Given the description of an element on the screen output the (x, y) to click on. 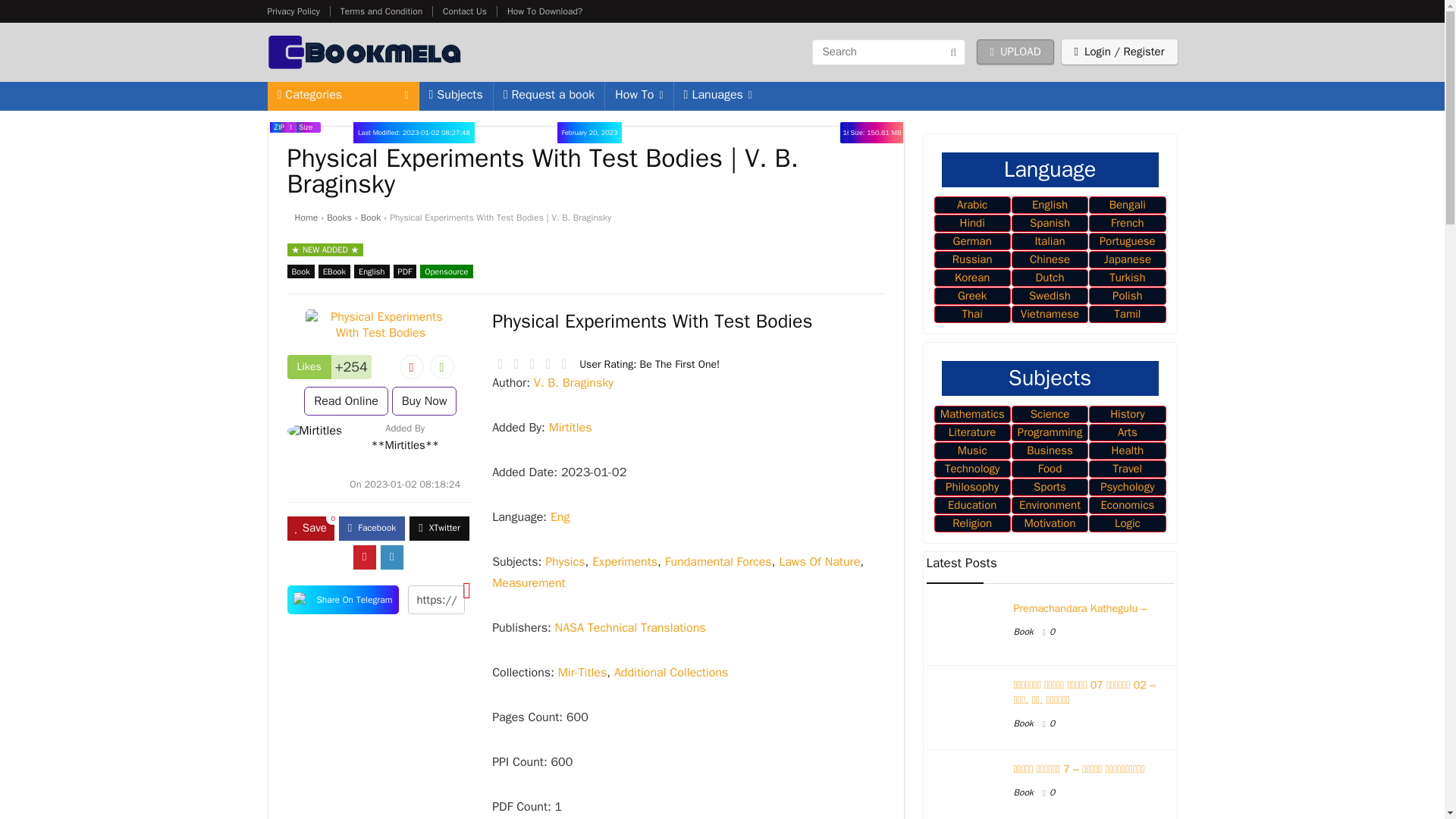
Buy Now (424, 400)
Book (300, 271)
View all posts in PDF (404, 271)
How To Download? (544, 10)
Books (339, 217)
Categories (341, 95)
EBook (334, 271)
Lanuages (717, 95)
Home (305, 217)
Vote down (410, 366)
Privacy Policy (292, 10)
Mirtitles (570, 427)
Vote up (440, 366)
Contact Us (464, 10)
V. B. Braginsky (573, 382)
